Given the description of an element on the screen output the (x, y) to click on. 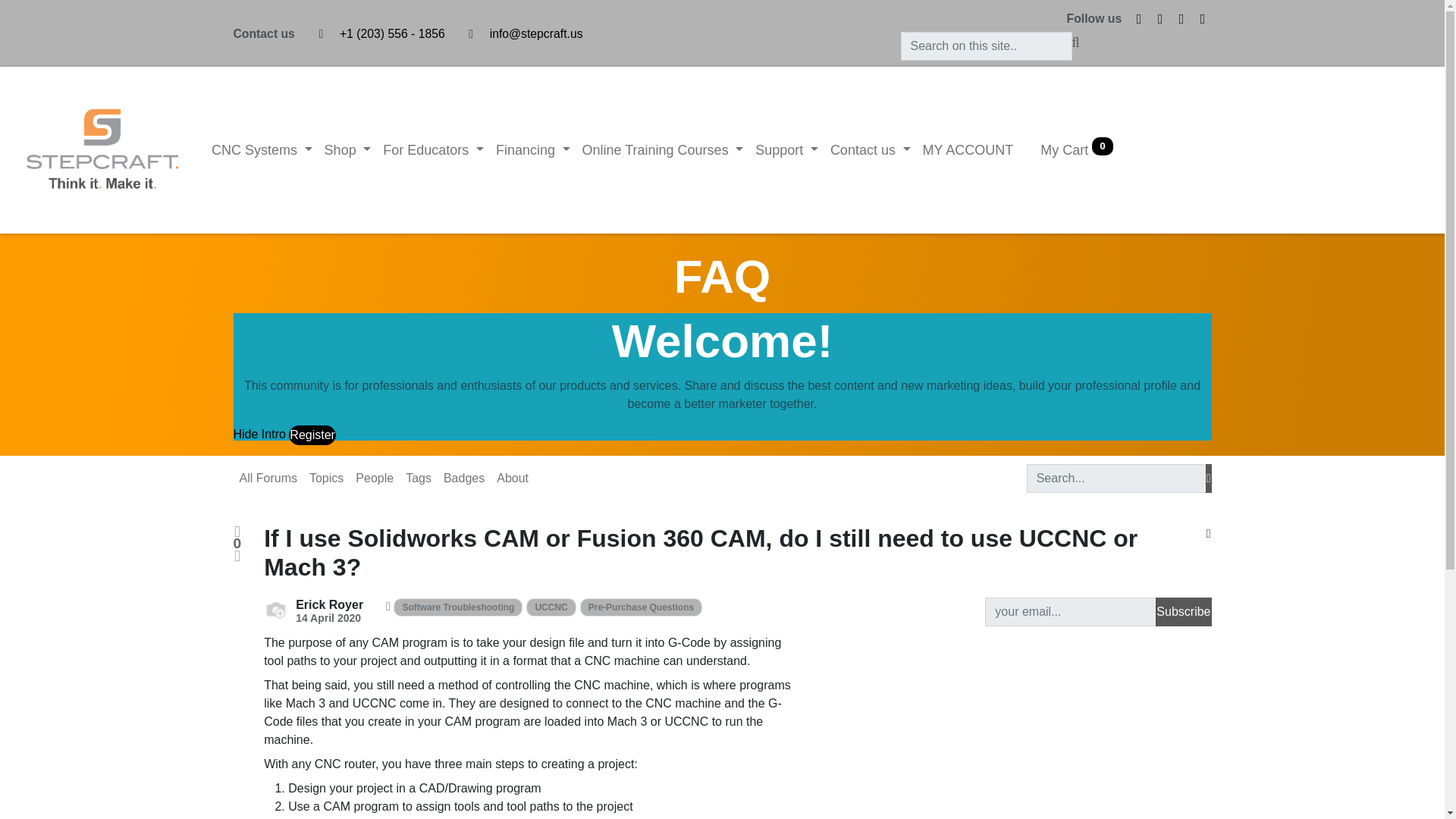
Online Training Courses (662, 150)
CNC Systems (261, 150)
Shop (347, 150)
Stepcraft, Inc. (101, 150)
Search (1208, 478)
Support (786, 150)
Negative vote (236, 556)
Positive vote (236, 532)
For Educators (433, 150)
All forums (267, 478)
Financing (532, 150)
